Given the description of an element on the screen output the (x, y) to click on. 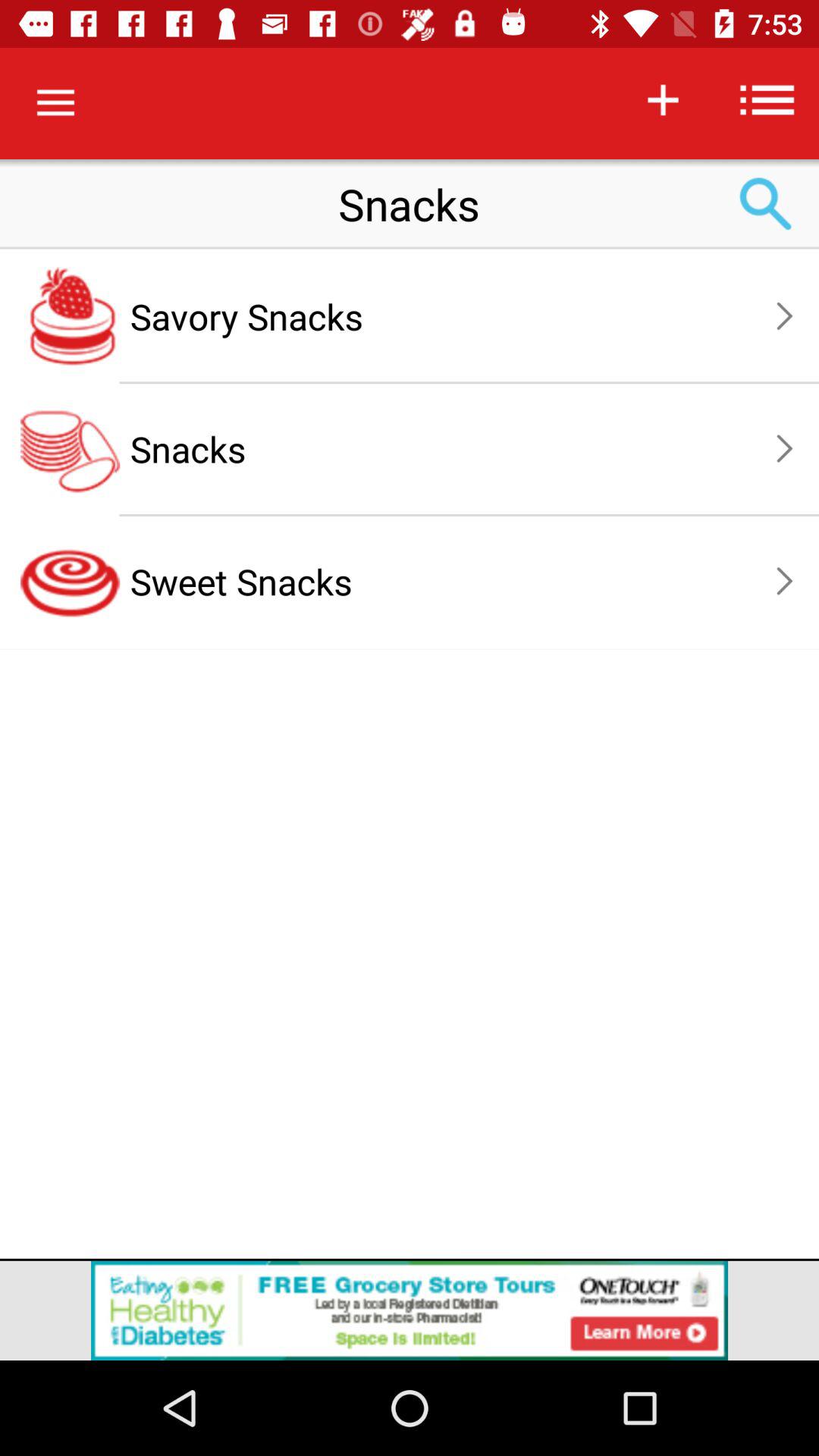
advertisement page (409, 1310)
